Given the description of an element on the screen output the (x, y) to click on. 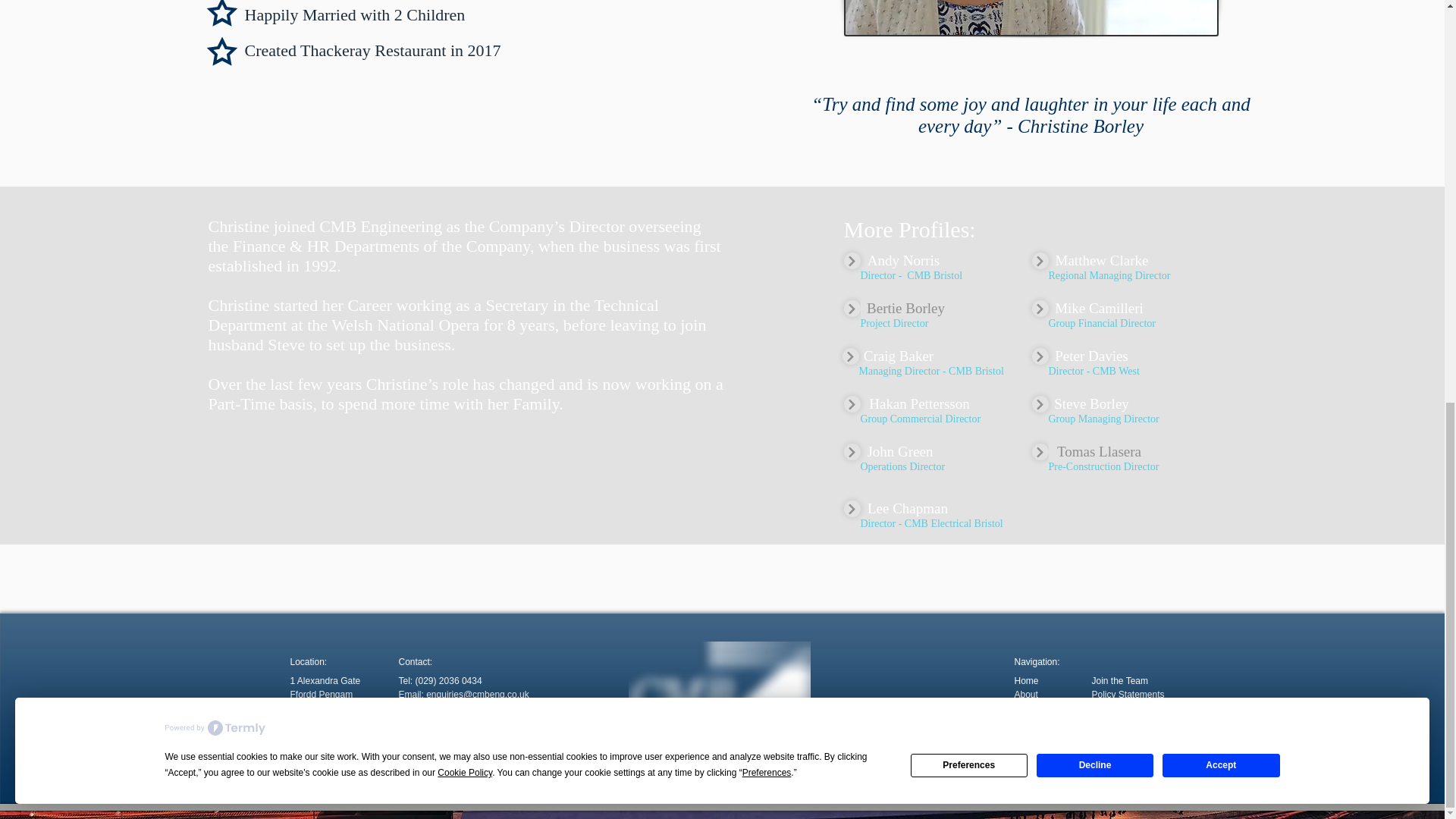
Steve Borley (1091, 403)
Mike Camilleri (1099, 308)
Craig Baker (898, 356)
Matthew Clarke (1101, 260)
Location: (307, 661)
Peter Davies (1091, 356)
Andy Norris (903, 260)
John Green (899, 451)
Tomas Llasera (1099, 451)
Bertie Borley (905, 308)
Hakan Pettersson (919, 403)
Lee Chapman (907, 508)
Contact: (415, 661)
